Given the description of an element on the screen output the (x, y) to click on. 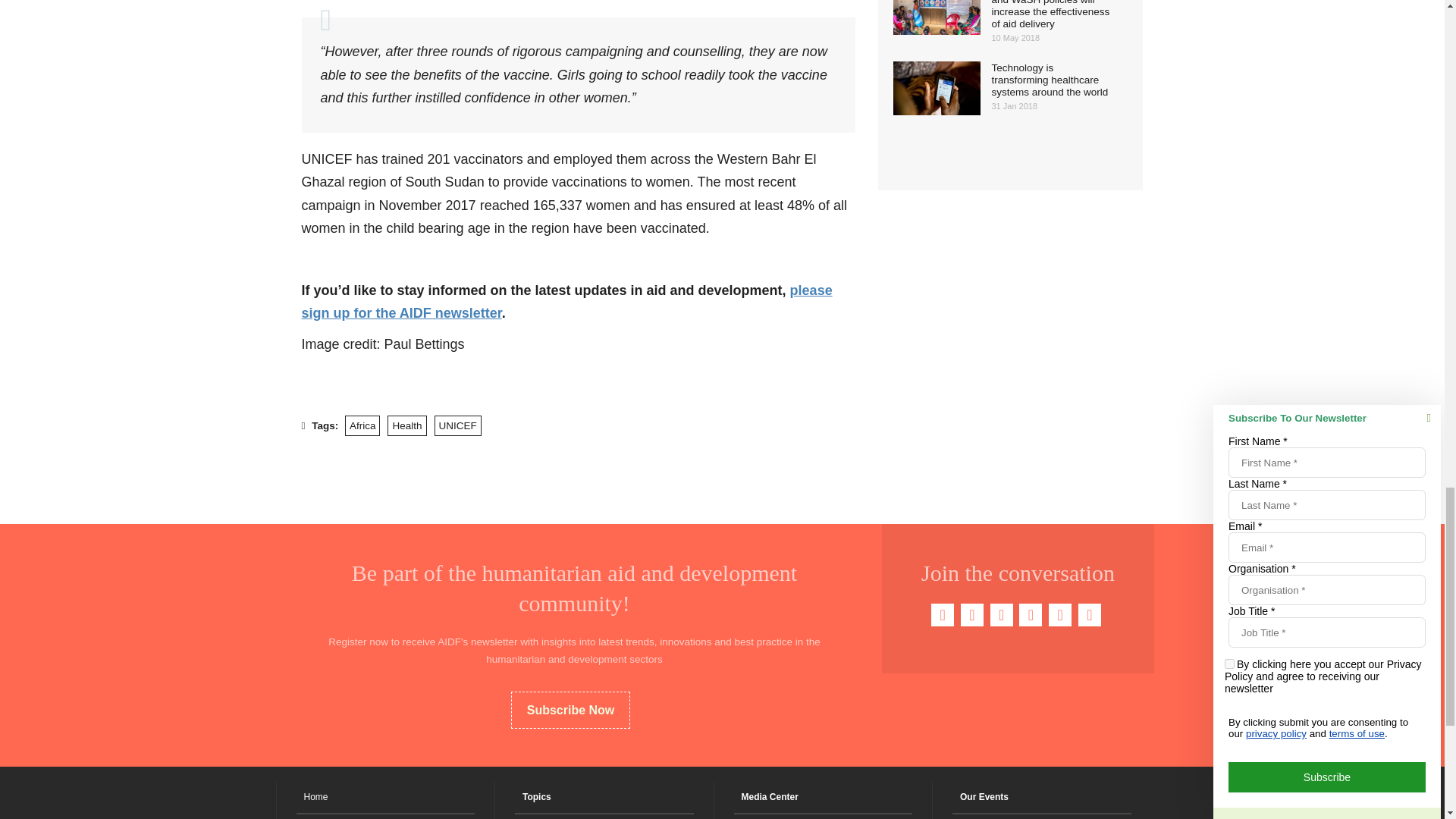
UNICEF (456, 425)
Health (406, 425)
Africa (362, 425)
